Given the description of an element on the screen output the (x, y) to click on. 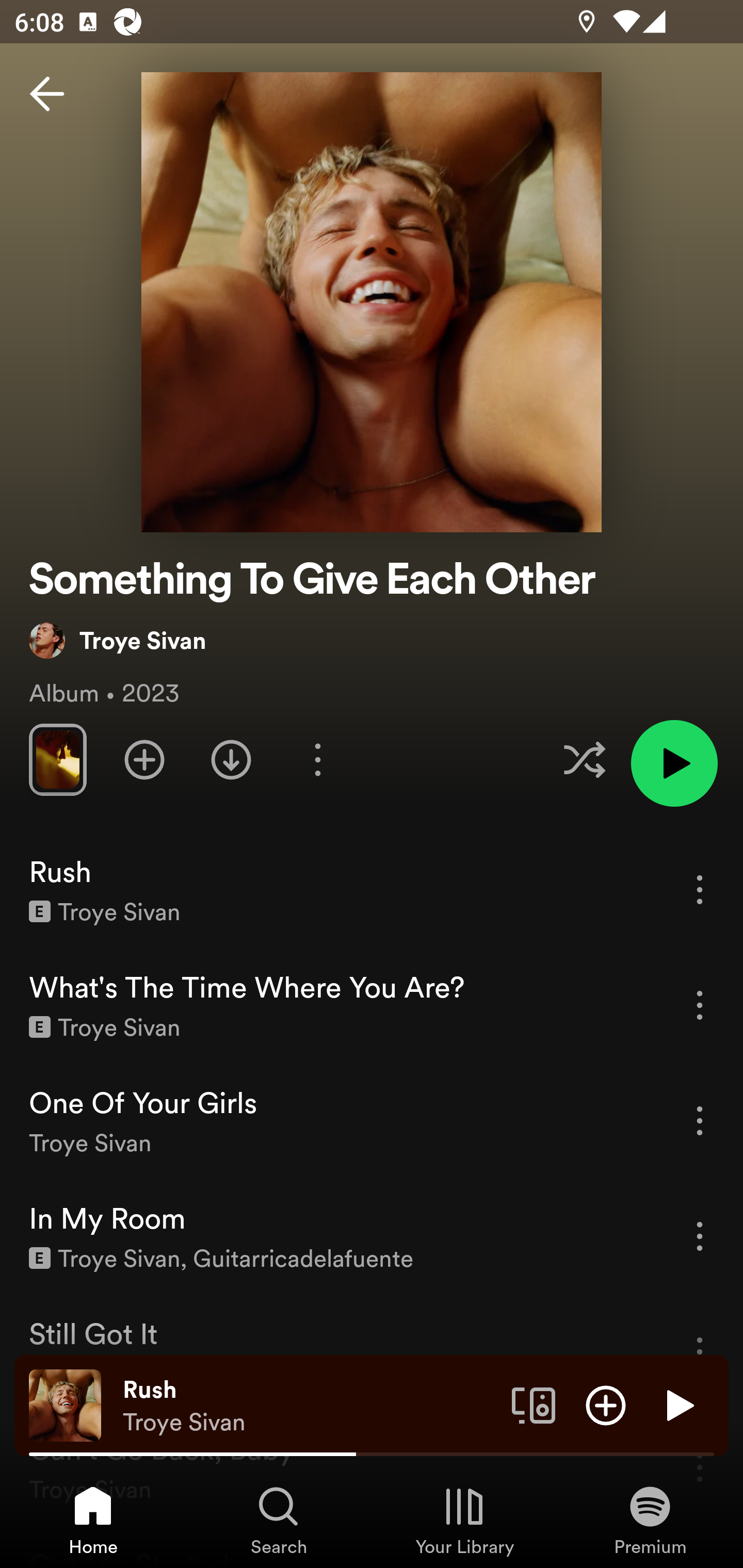
Back (46, 93)
Troye Sivan (117, 640)
Add playlist to Your Library (144, 759)
Download (230, 759)
Enable shuffle for this playlist (583, 759)
Play playlist (674, 763)
More options for song Rush (699, 889)
More options for song One Of Your Girls (699, 1120)
More options for song In My Room (699, 1236)
Rush Troye Sivan (309, 1405)
The cover art of the currently playing track (64, 1404)
Connect to a device. Opens the devices menu (533, 1404)
Add item (605, 1404)
Play (677, 1404)
Home, Tab 1 of 4 Home Home (92, 1519)
Search, Tab 2 of 4 Search Search (278, 1519)
Your Library, Tab 3 of 4 Your Library Your Library (464, 1519)
Premium, Tab 4 of 4 Premium Premium (650, 1519)
